Given the description of an element on the screen output the (x, y) to click on. 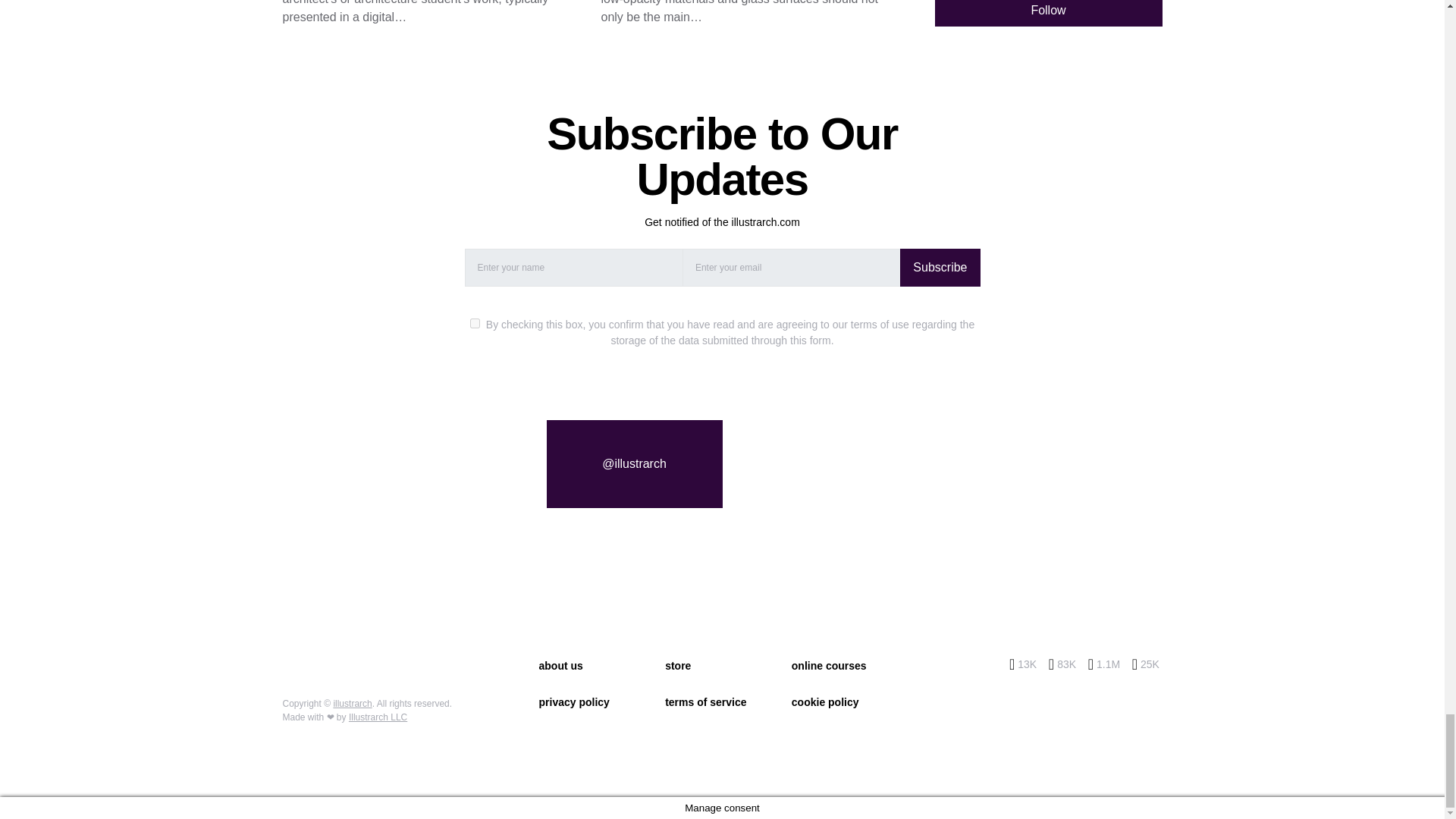
on (475, 323)
